Given the description of an element on the screen output the (x, y) to click on. 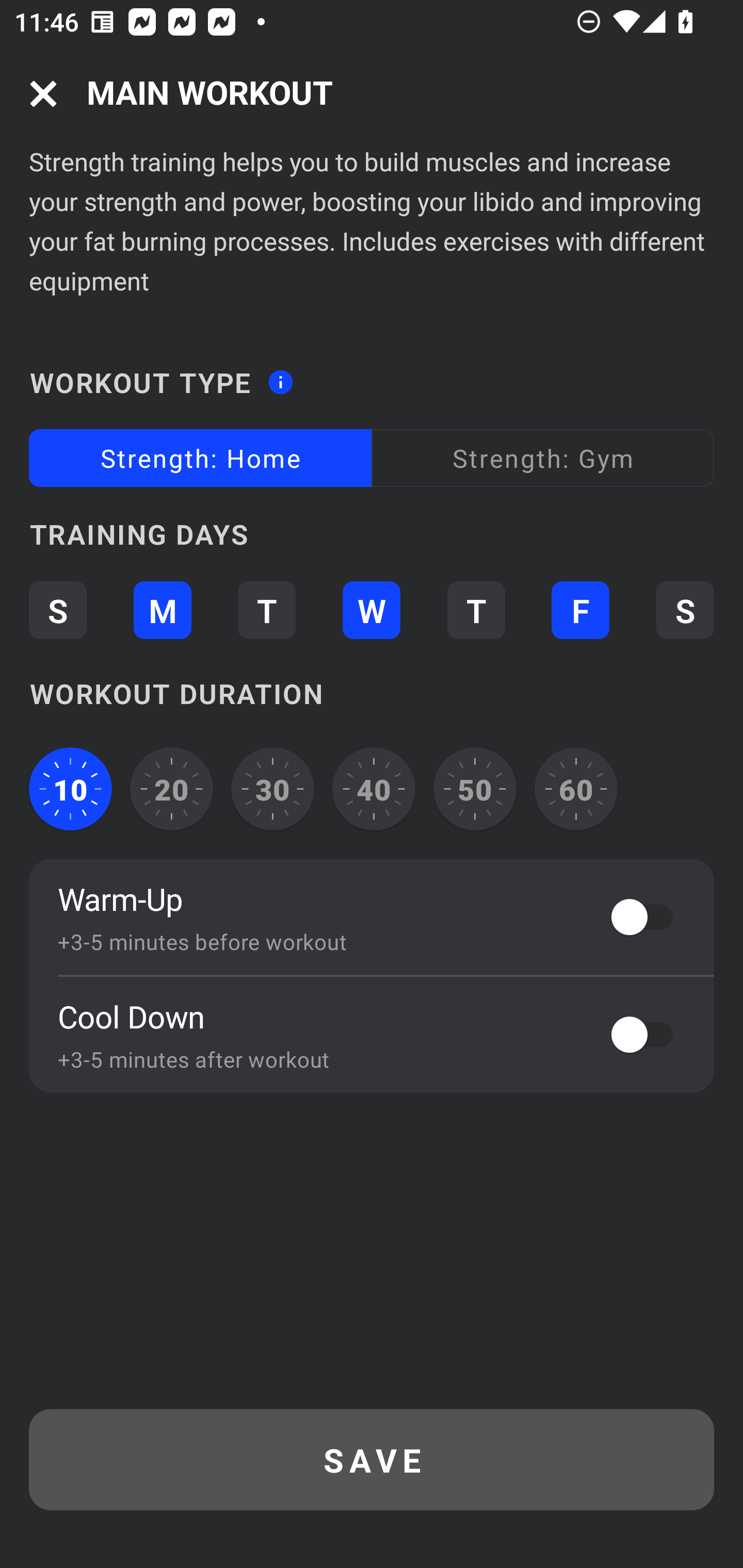
Navigation icon (43, 93)
Workout type information button (280, 375)
Strength: Home (199, 457)
Strength: Gym (542, 457)
S (57, 610)
T (266, 610)
T (476, 610)
S (684, 610)
10 (70, 789)
20 (171, 789)
30 (272, 789)
40 (373, 789)
50 (474, 789)
60 (575, 789)
SAVE (371, 1459)
